Given the description of an element on the screen output the (x, y) to click on. 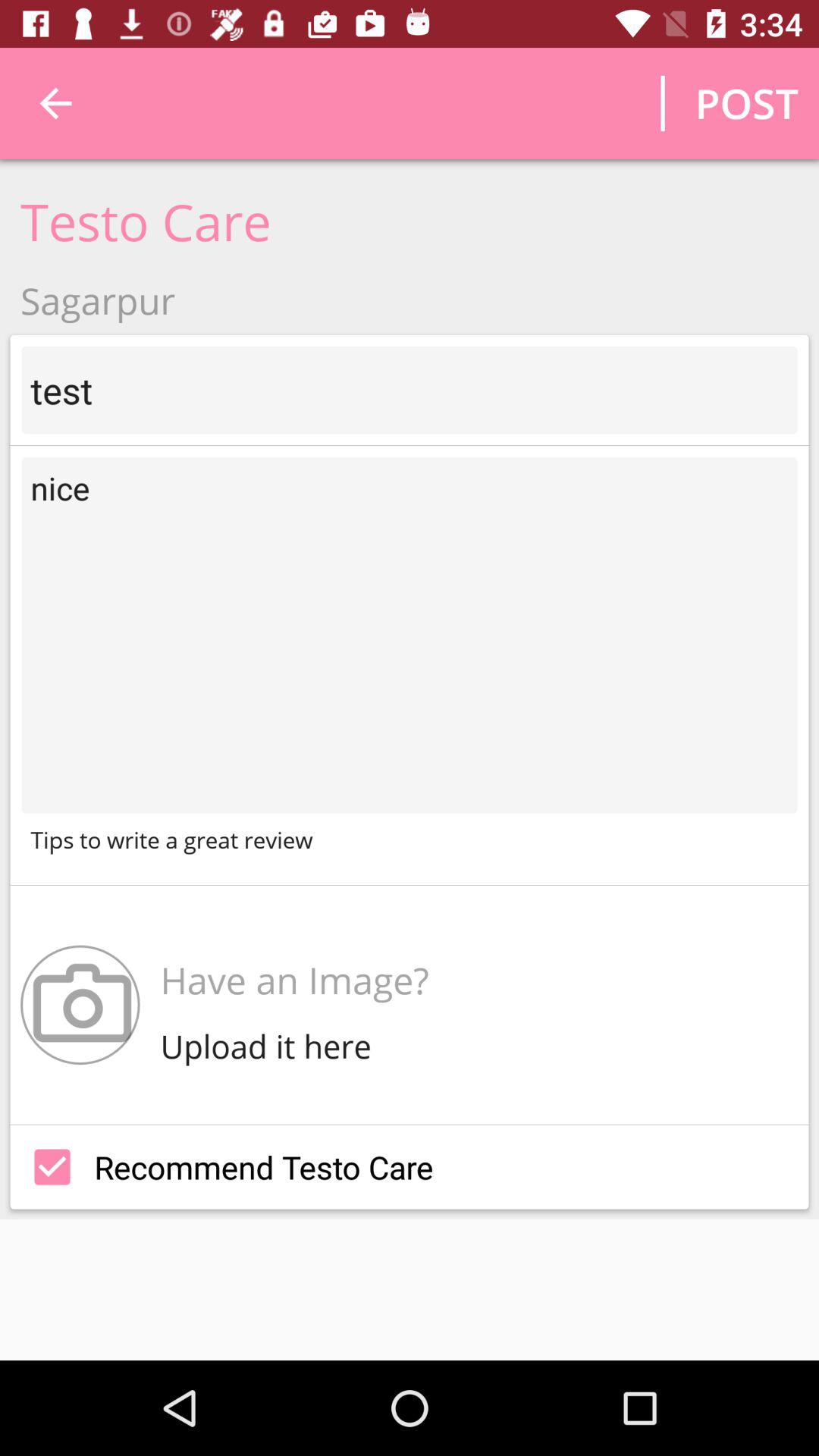
choose the nice icon (409, 635)
